Given the description of an element on the screen output the (x, y) to click on. 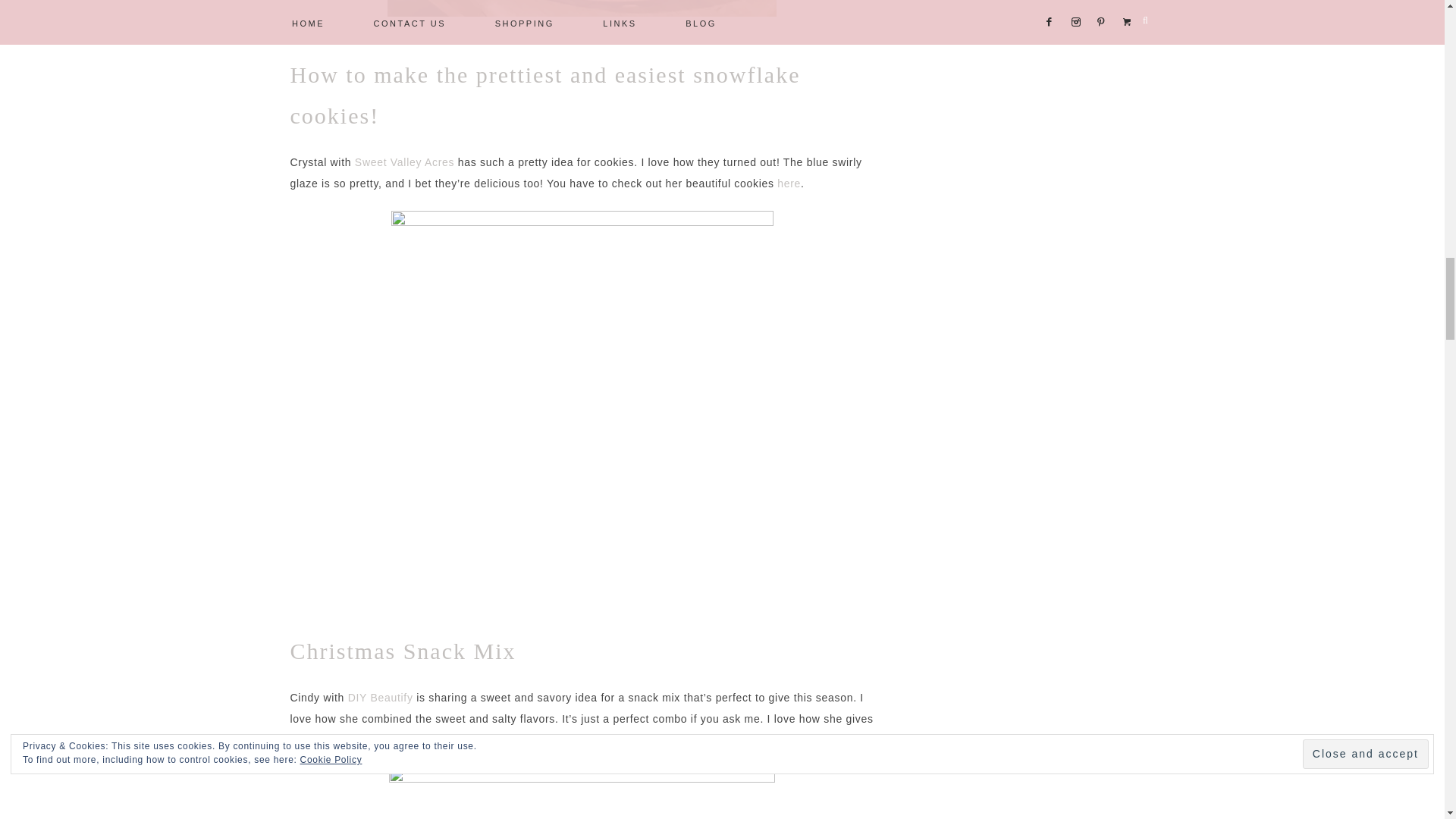
DIY Beautify (380, 697)
here (788, 183)
How to make the prettiest and easiest snowflake cookies! (544, 94)
here (650, 739)
Christmas Snack Mix (402, 650)
Sweet Valley Acres (402, 162)
